Given the description of an element on the screen output the (x, y) to click on. 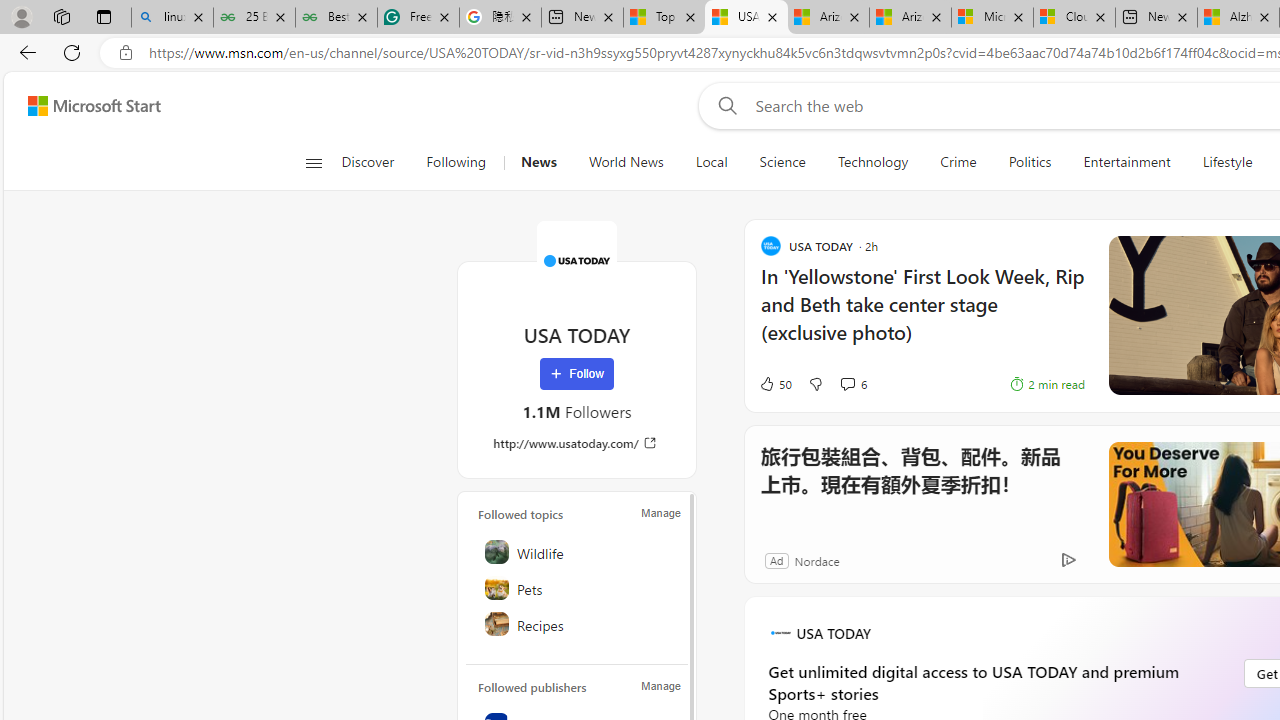
Recipes (578, 623)
View comments 6 Comment (847, 383)
Leadgen logo (780, 632)
